Given the description of an element on the screen output the (x, y) to click on. 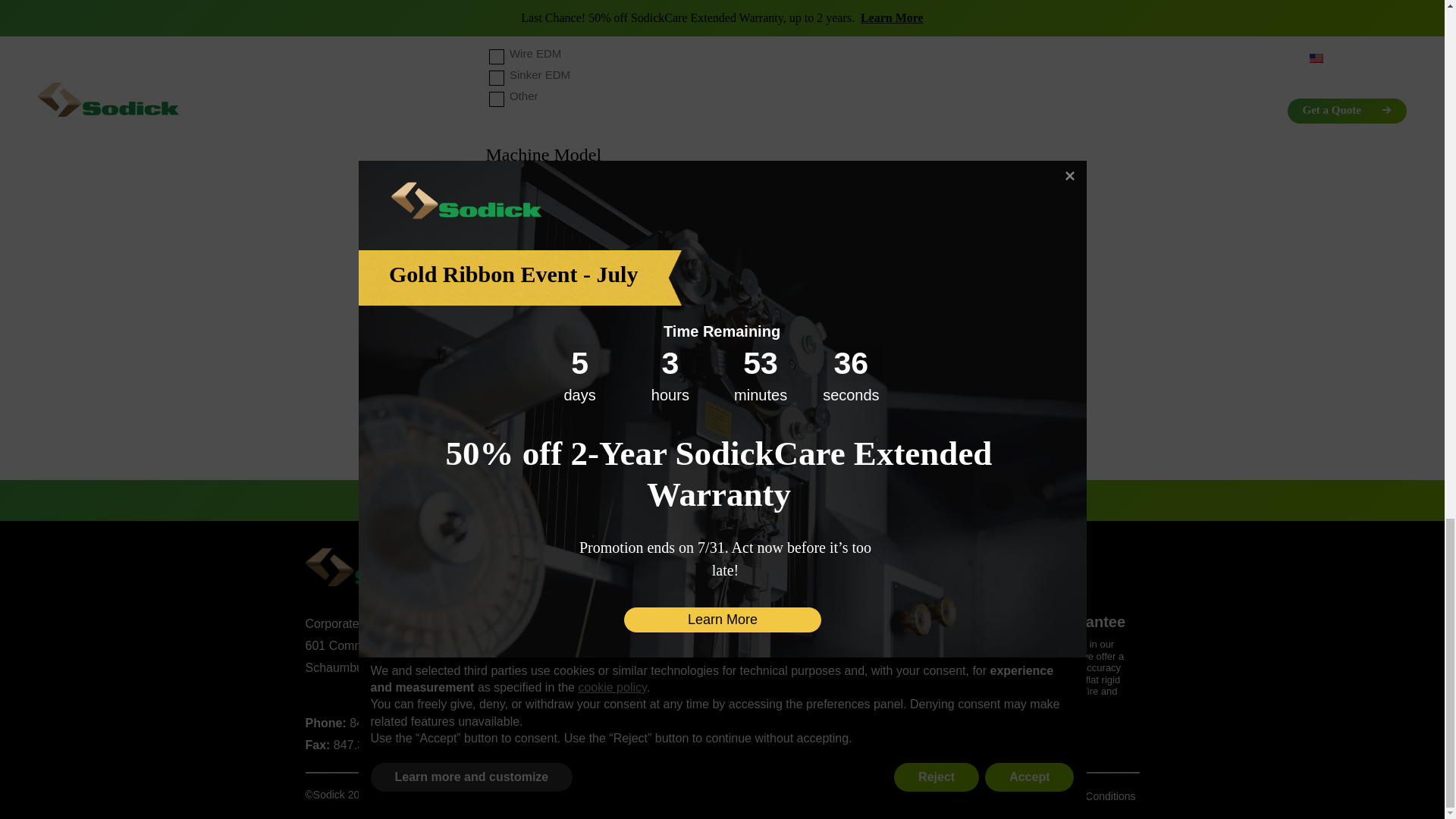
Sinker EDM (495, 77)
Wire EDM (495, 56)
Sign Up (961, 500)
Submit (721, 433)
Privacy Policy  (919, 795)
Sodick Inc. (408, 567)
Other (495, 99)
